Given the description of an element on the screen output the (x, y) to click on. 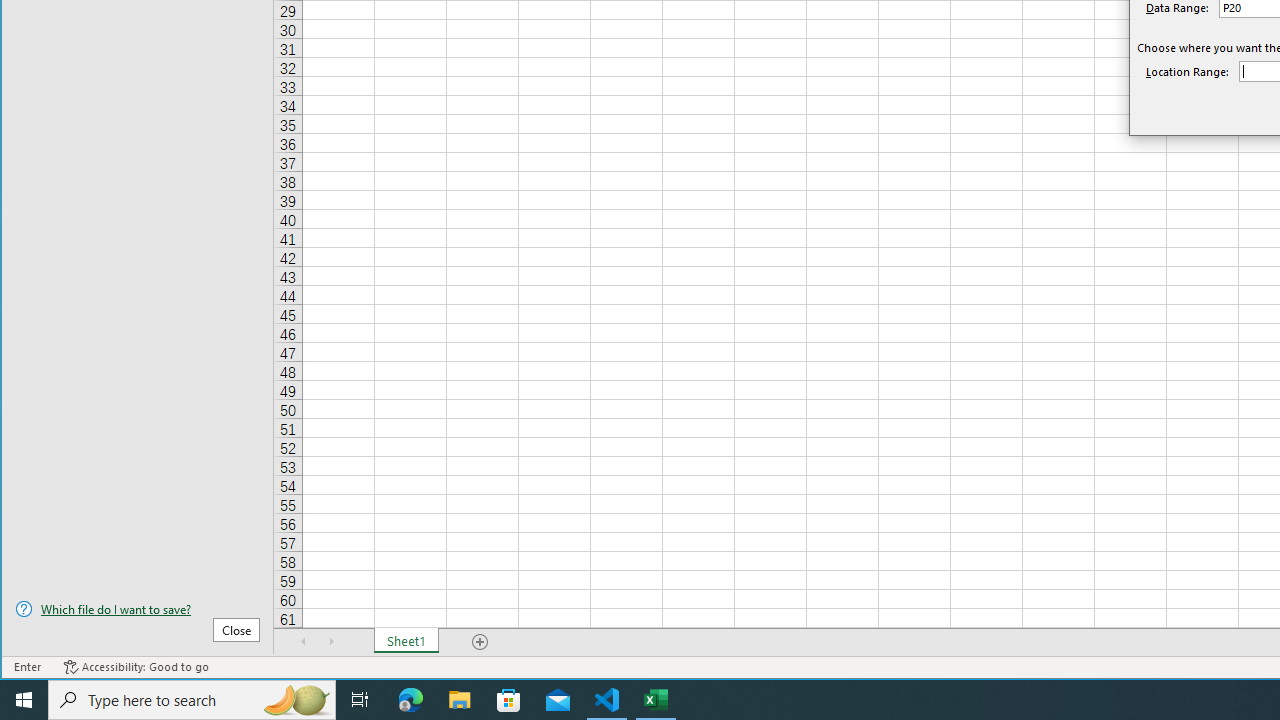
Type here to search (191, 699)
Task View (359, 699)
Start (24, 699)
Search highlights icon opens search home window (295, 699)
Excel - 1 running window (656, 699)
Microsoft Store (509, 699)
Microsoft Edge (411, 699)
